Given the description of an element on the screen output the (x, y) to click on. 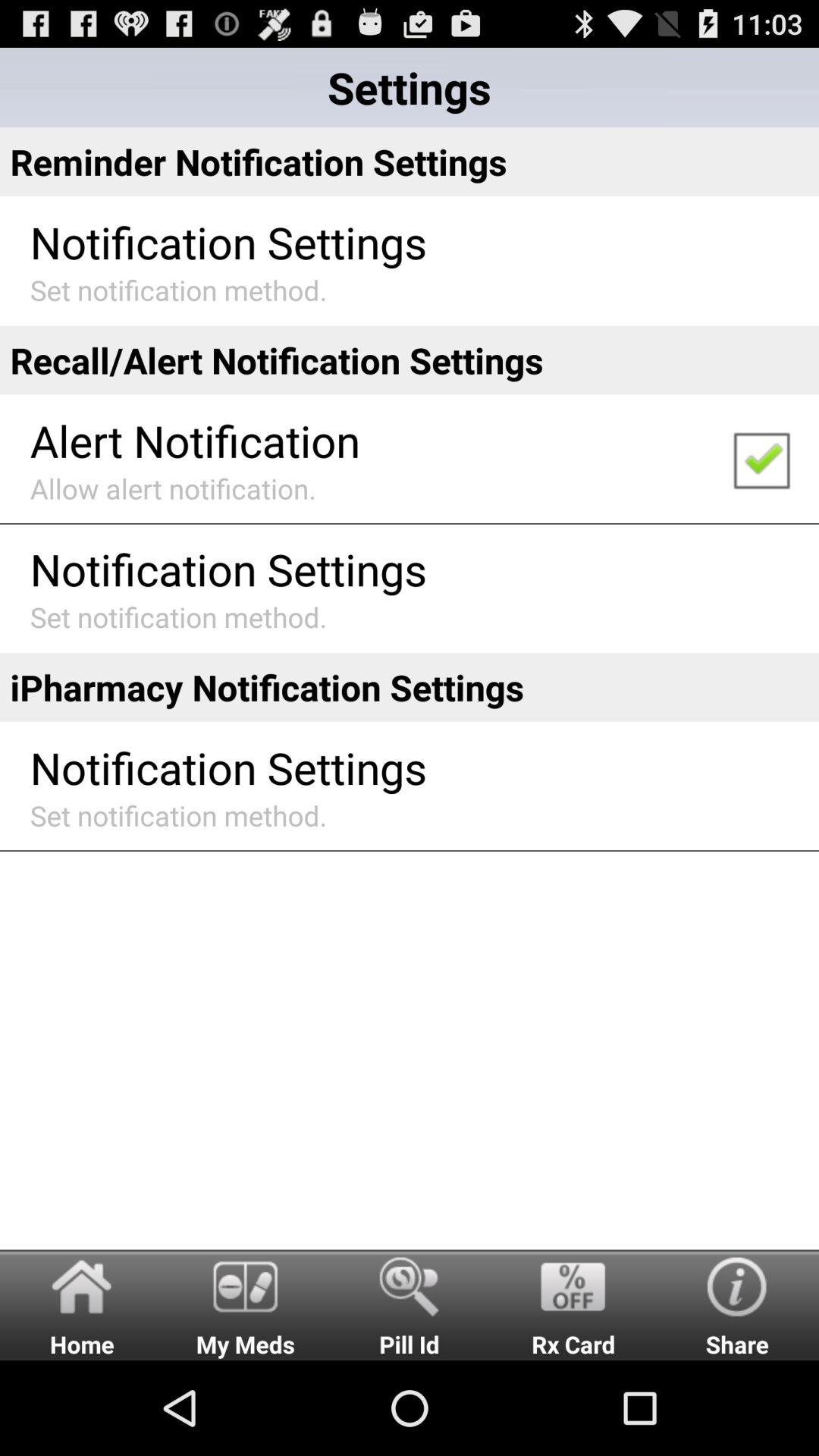
press icon below the set notification method. icon (409, 1304)
